Given the description of an element on the screen output the (x, y) to click on. 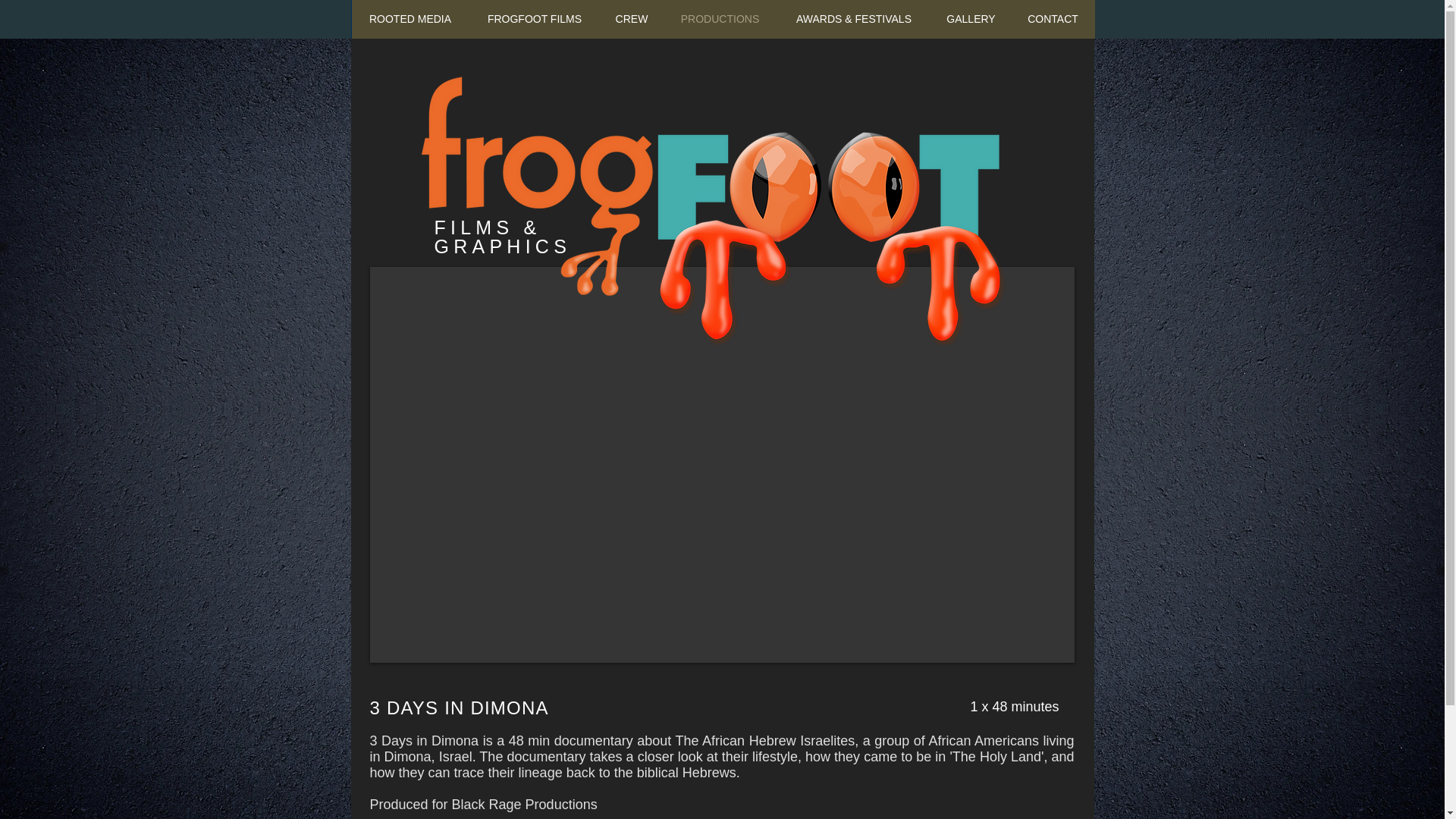
GALLERY (971, 19)
FROGFOOT FILMS (533, 19)
CONTACT (1052, 19)
PRODUCTIONS (719, 19)
CREW (631, 19)
ROOTED MEDIA (410, 19)
